Given the description of an element on the screen output the (x, y) to click on. 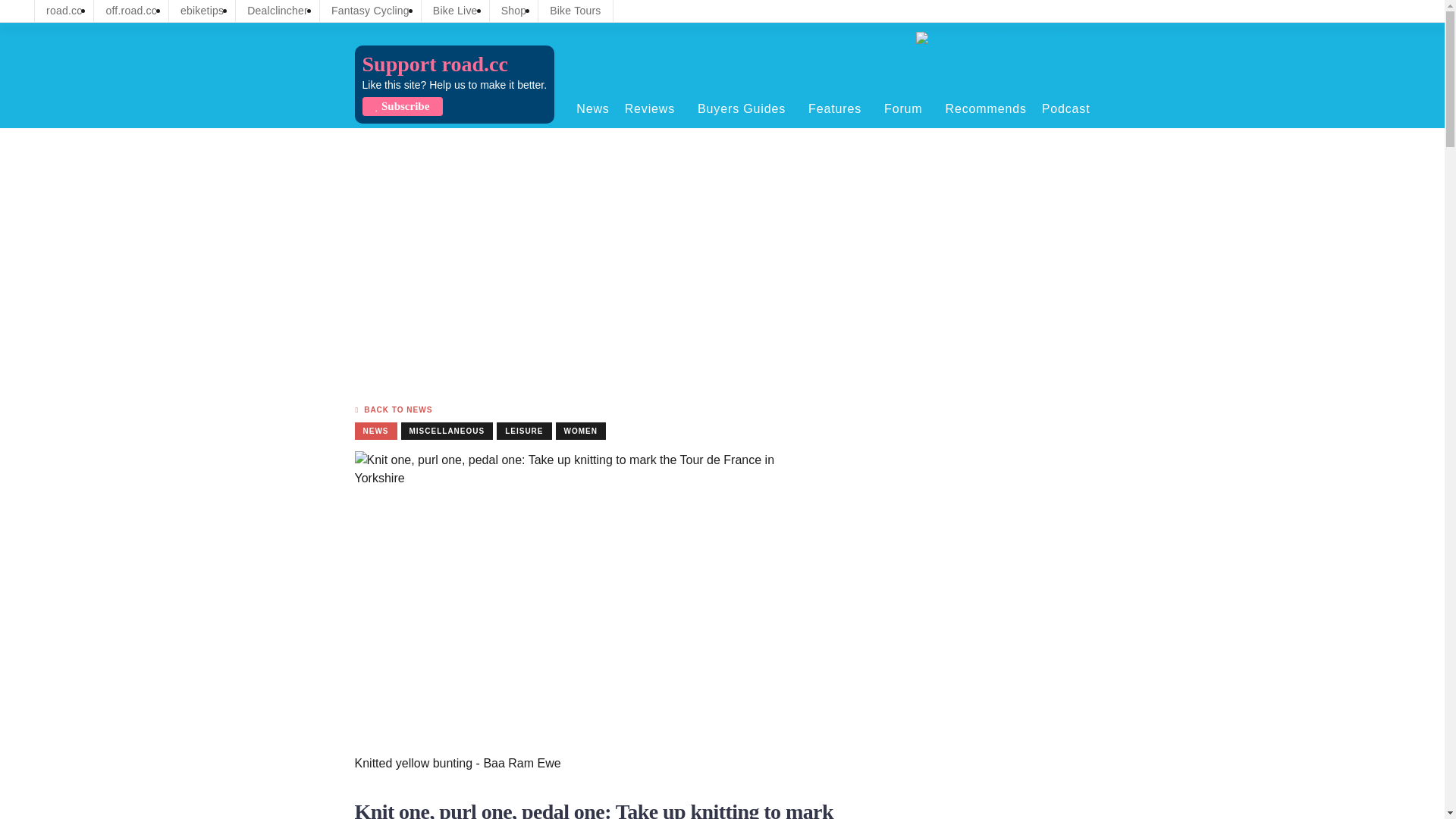
Fantasy Cycling (370, 11)
Bike Tours (574, 11)
Home (1002, 58)
Dealclincher (276, 11)
Reviews (653, 108)
Subscribe (402, 106)
road.cc (63, 11)
Bike Live (455, 11)
Shop (513, 11)
off.road.cc (131, 11)
ebiketips (201, 11)
News (592, 108)
